Given the description of an element on the screen output the (x, y) to click on. 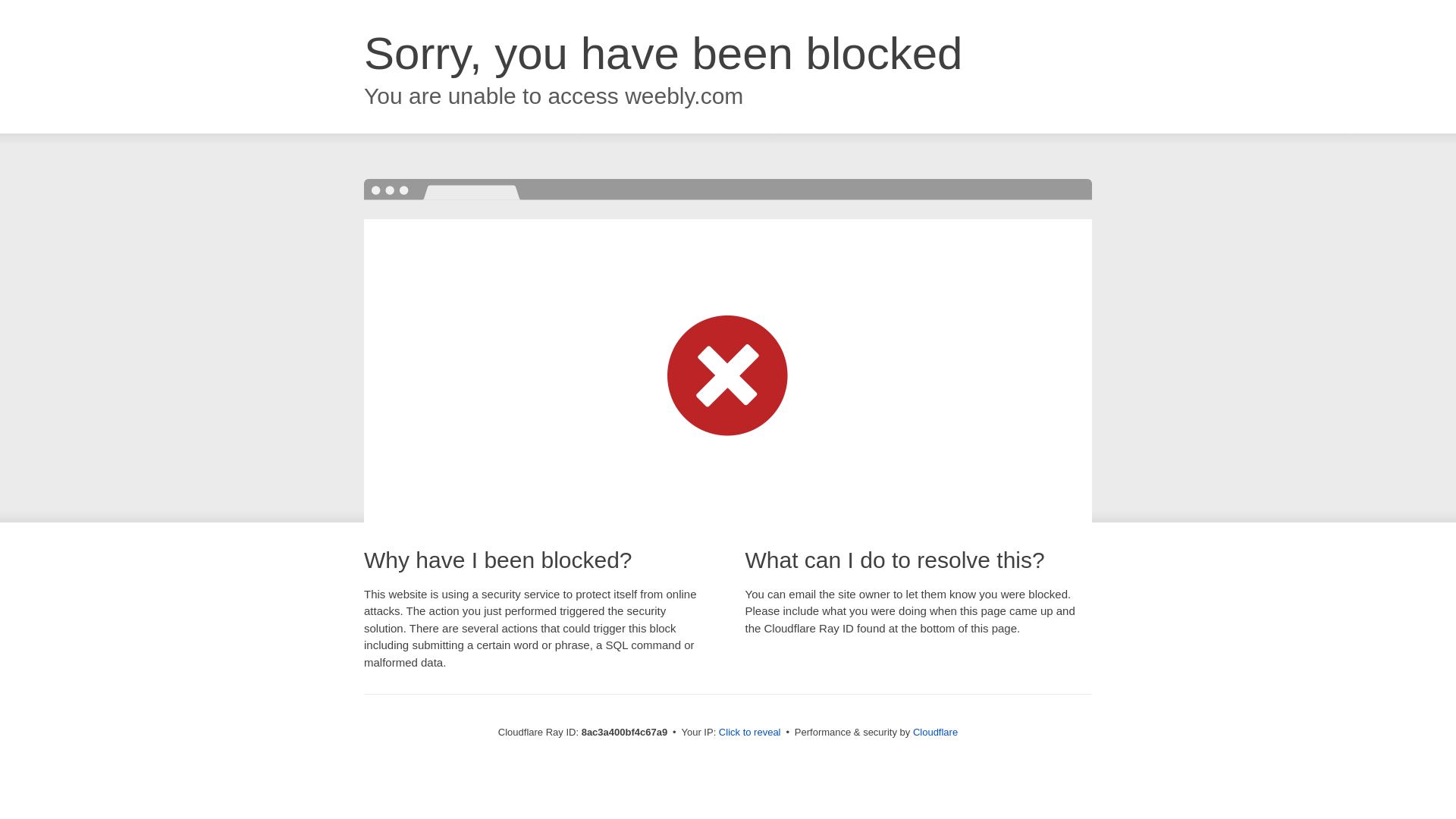
Cloudflare (935, 731)
Click to reveal (749, 732)
